Given the description of an element on the screen output the (x, y) to click on. 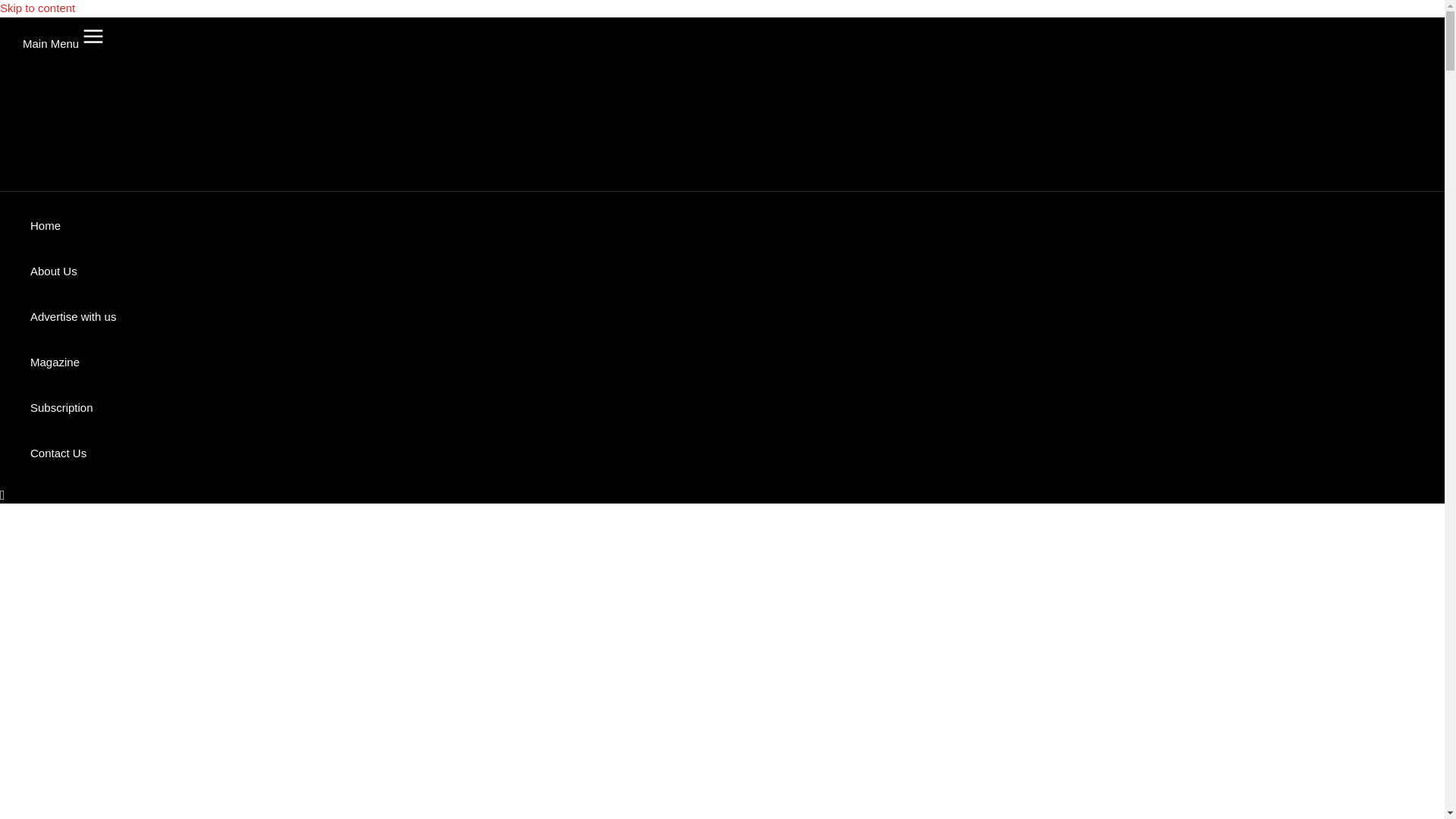
Magazine (73, 361)
Home (73, 225)
Contact Us (73, 452)
Subscription (73, 407)
Main Menu (67, 36)
About Us (73, 271)
Advertise with us (73, 316)
